Given the description of an element on the screen output the (x, y) to click on. 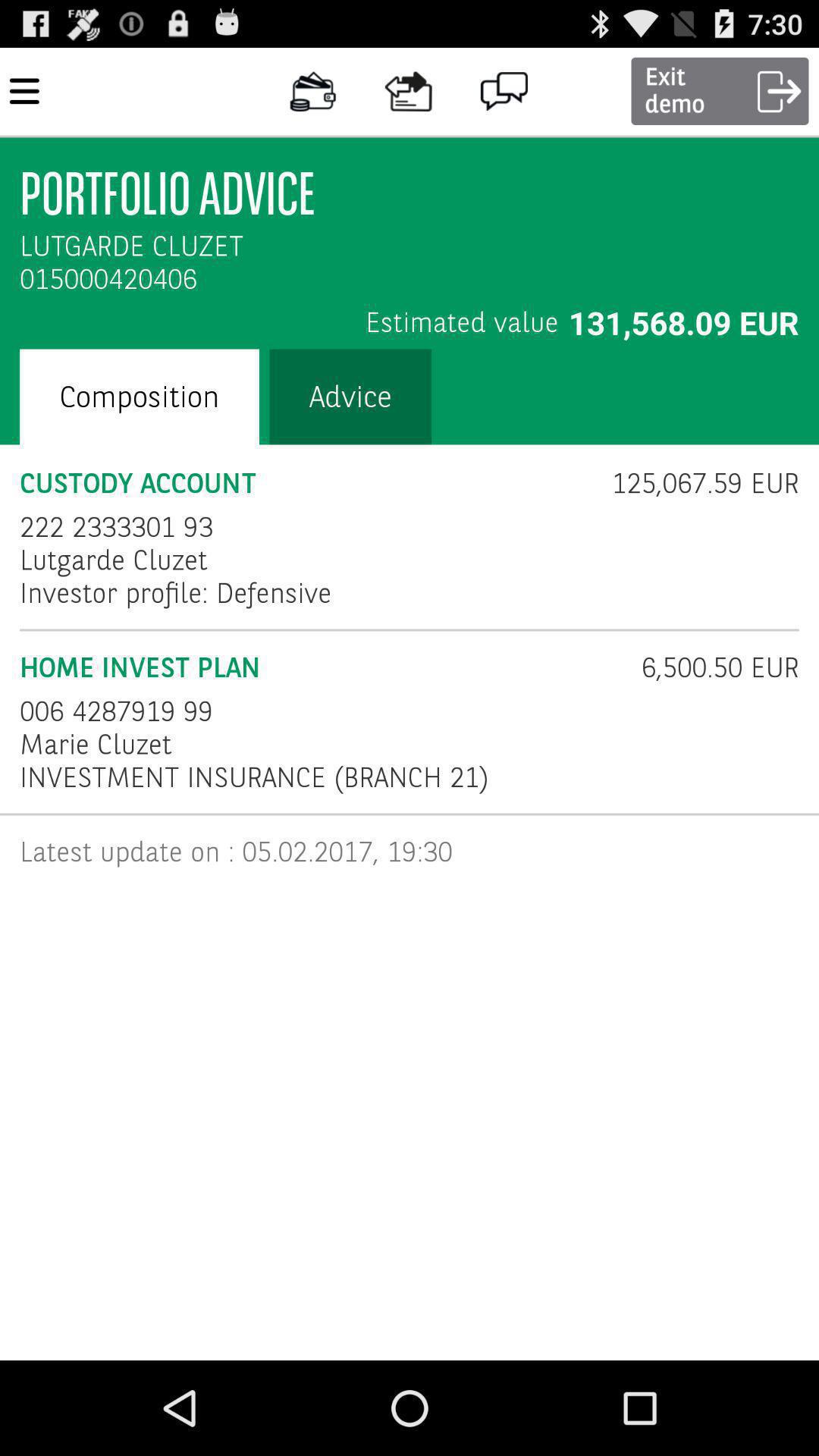
click the item above the 006 4287919 99 item (320, 667)
